Given the description of an element on the screen output the (x, y) to click on. 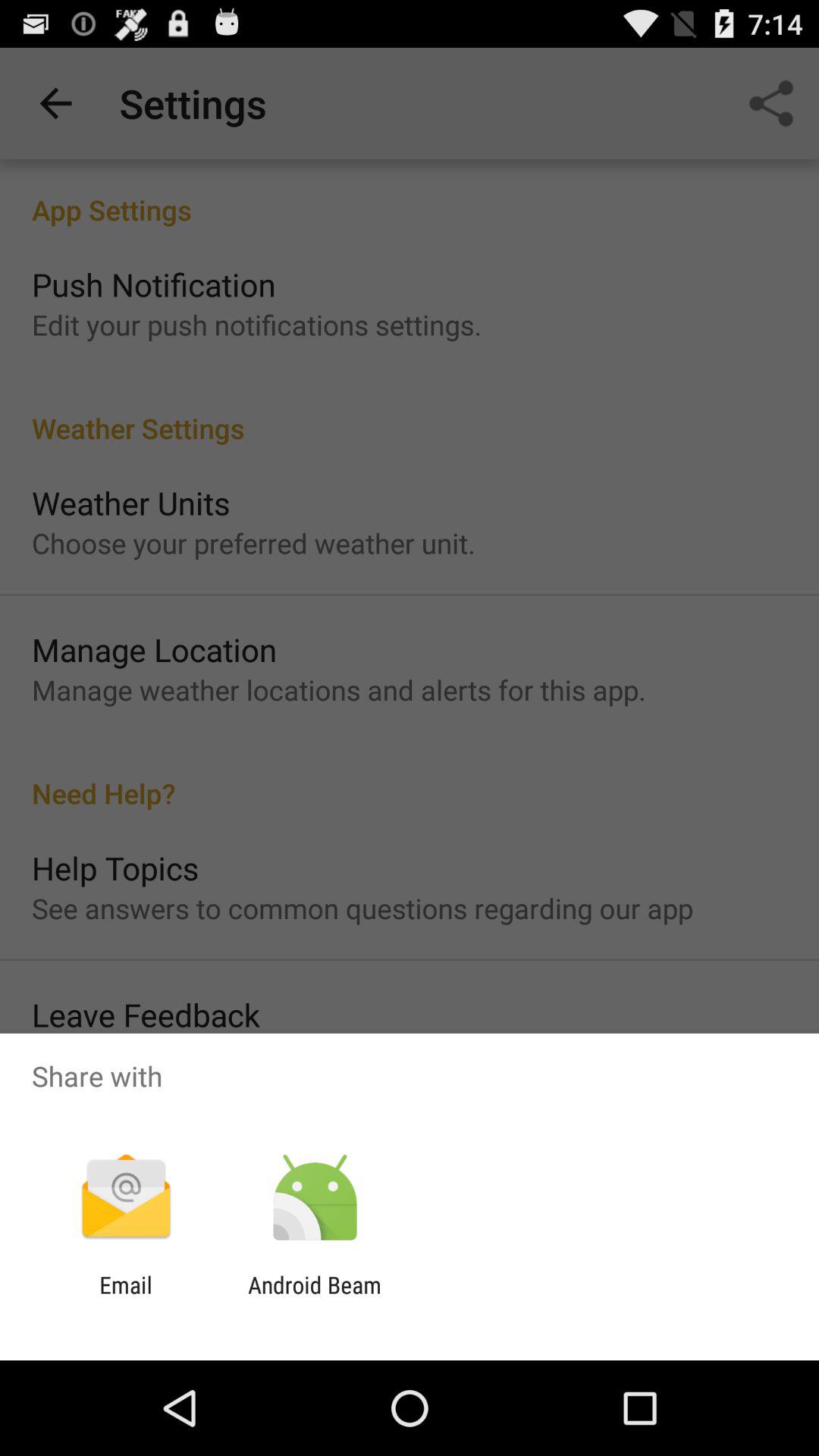
launch icon next to the android beam app (125, 1298)
